Given the description of an element on the screen output the (x, y) to click on. 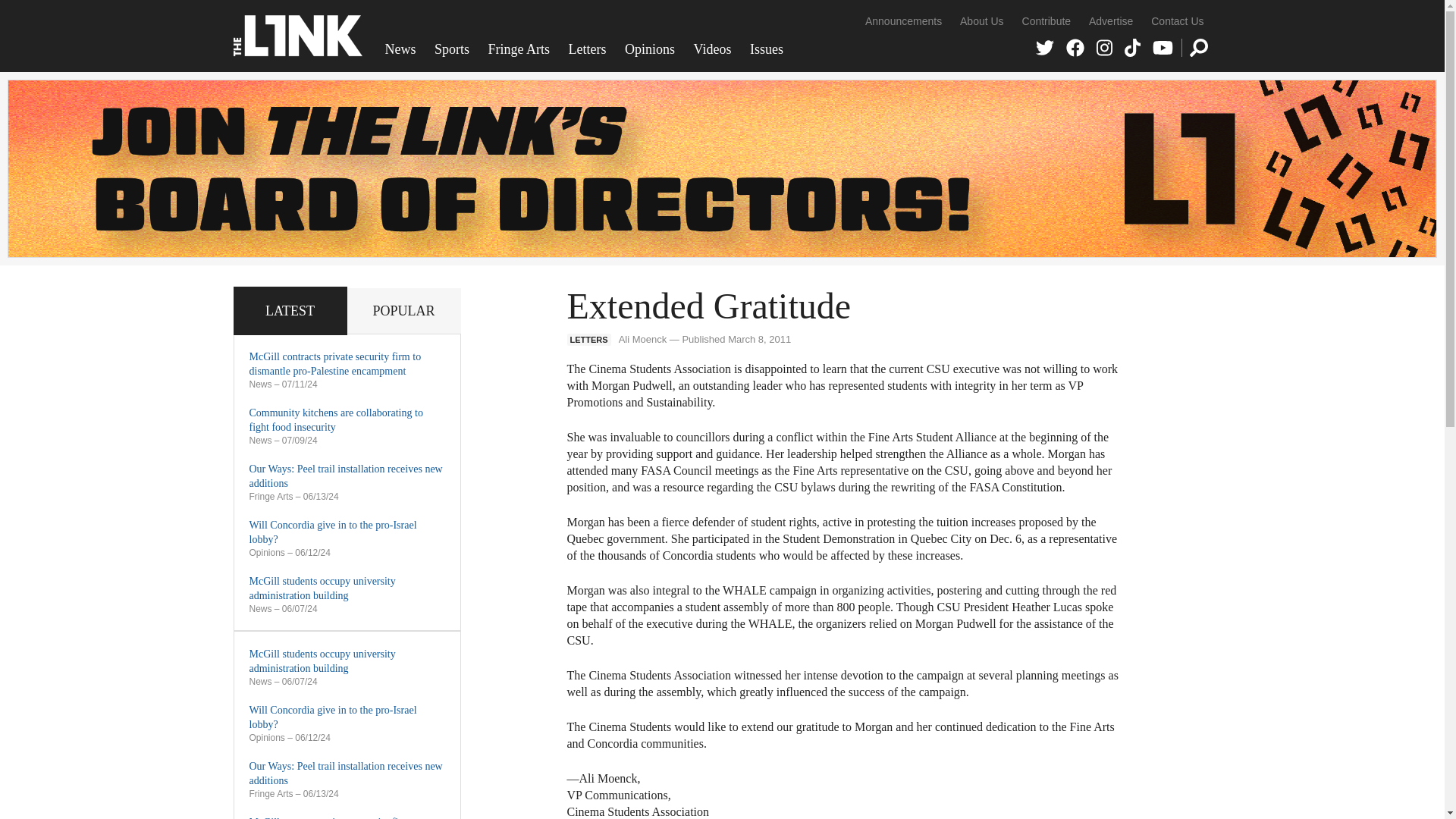
YouTube (1163, 47)
News (400, 49)
Opinions (649, 49)
YouTube (1163, 47)
Fringe Arts (518, 49)
Sports (451, 49)
Facebook (1074, 47)
Videos (712, 49)
Facebook (1074, 47)
Letters (587, 49)
Twitter (1044, 47)
Twitter (1044, 47)
Search Form (1198, 47)
Search Form (1198, 47)
